Given the description of an element on the screen output the (x, y) to click on. 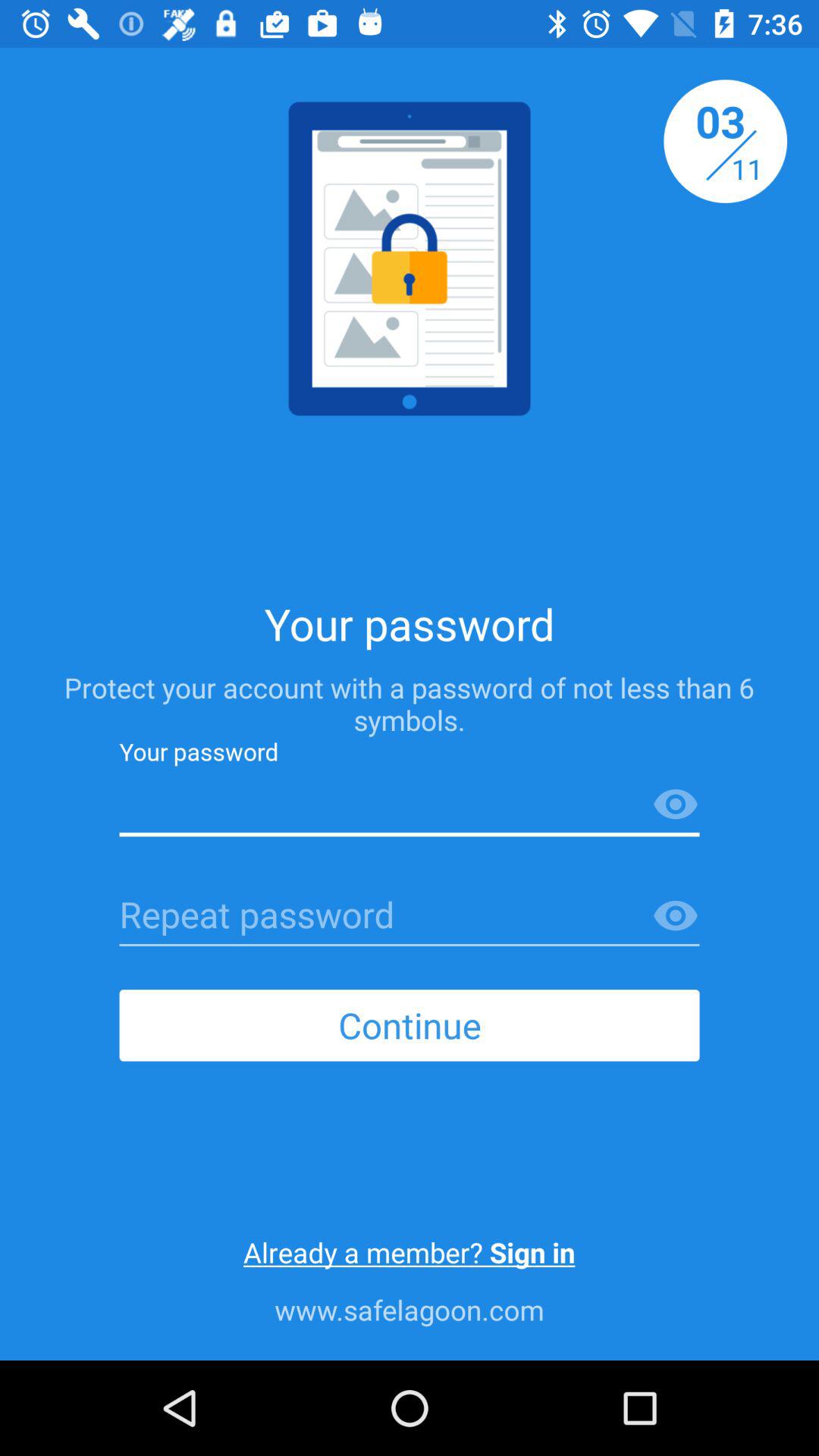
type password (409, 805)
